Given the description of an element on the screen output the (x, y) to click on. 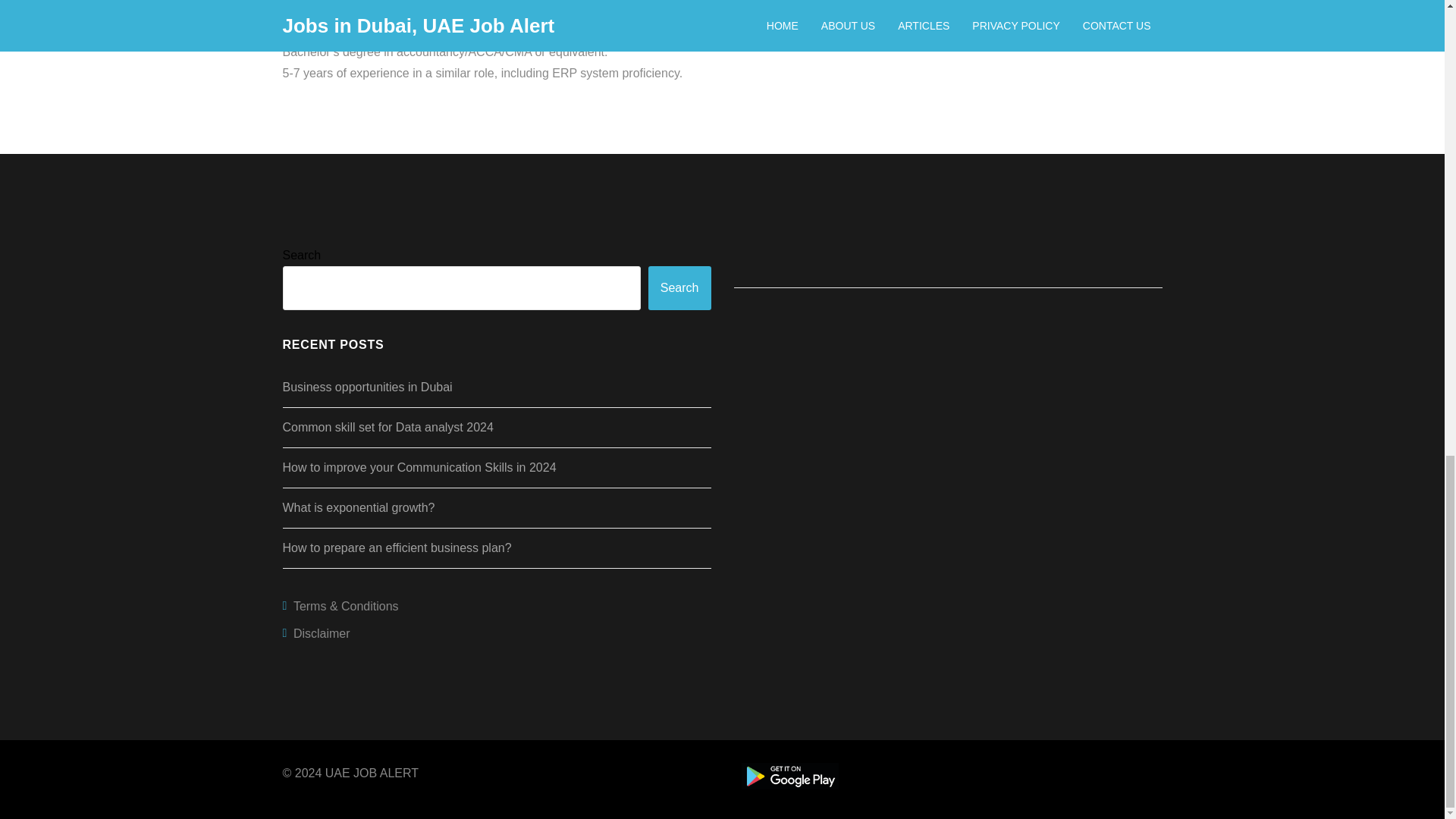
What is exponential growth? (357, 507)
How to improve your Communication Skills in 2024 (419, 467)
Disclaimer (496, 633)
Common skill set for Data analyst 2024 (387, 427)
Business opportunities in Dubai (366, 386)
How to prepare an efficient business plan? (396, 547)
Search (679, 288)
